Given the description of an element on the screen output the (x, y) to click on. 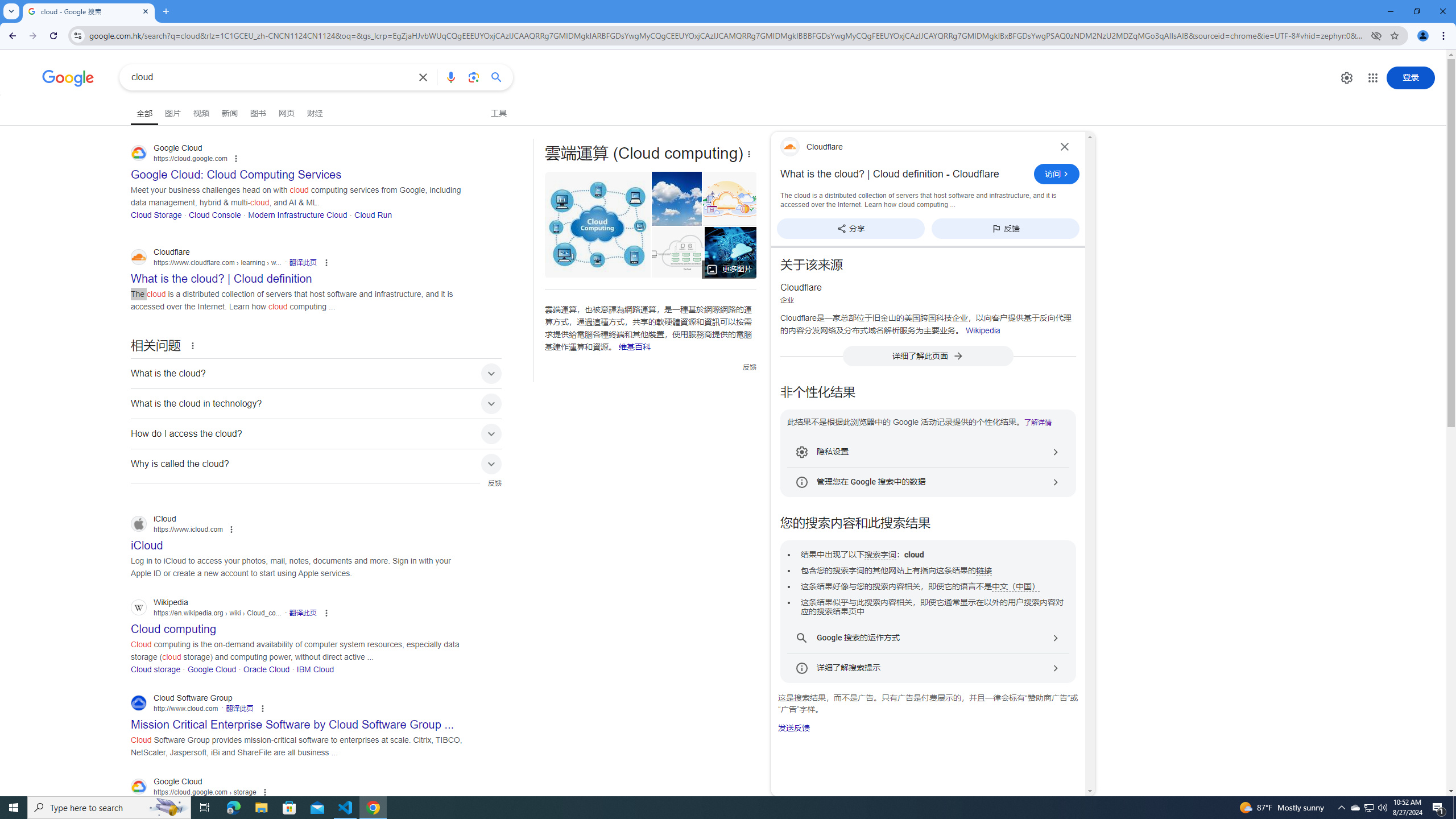
What is cloud computing? Everything you need to know now ... (730, 251)
How do I access the cloud? (316, 433)
What is the cloud? | Cloud definition - Cloudflare (903, 173)
